Given the description of an element on the screen output the (x, y) to click on. 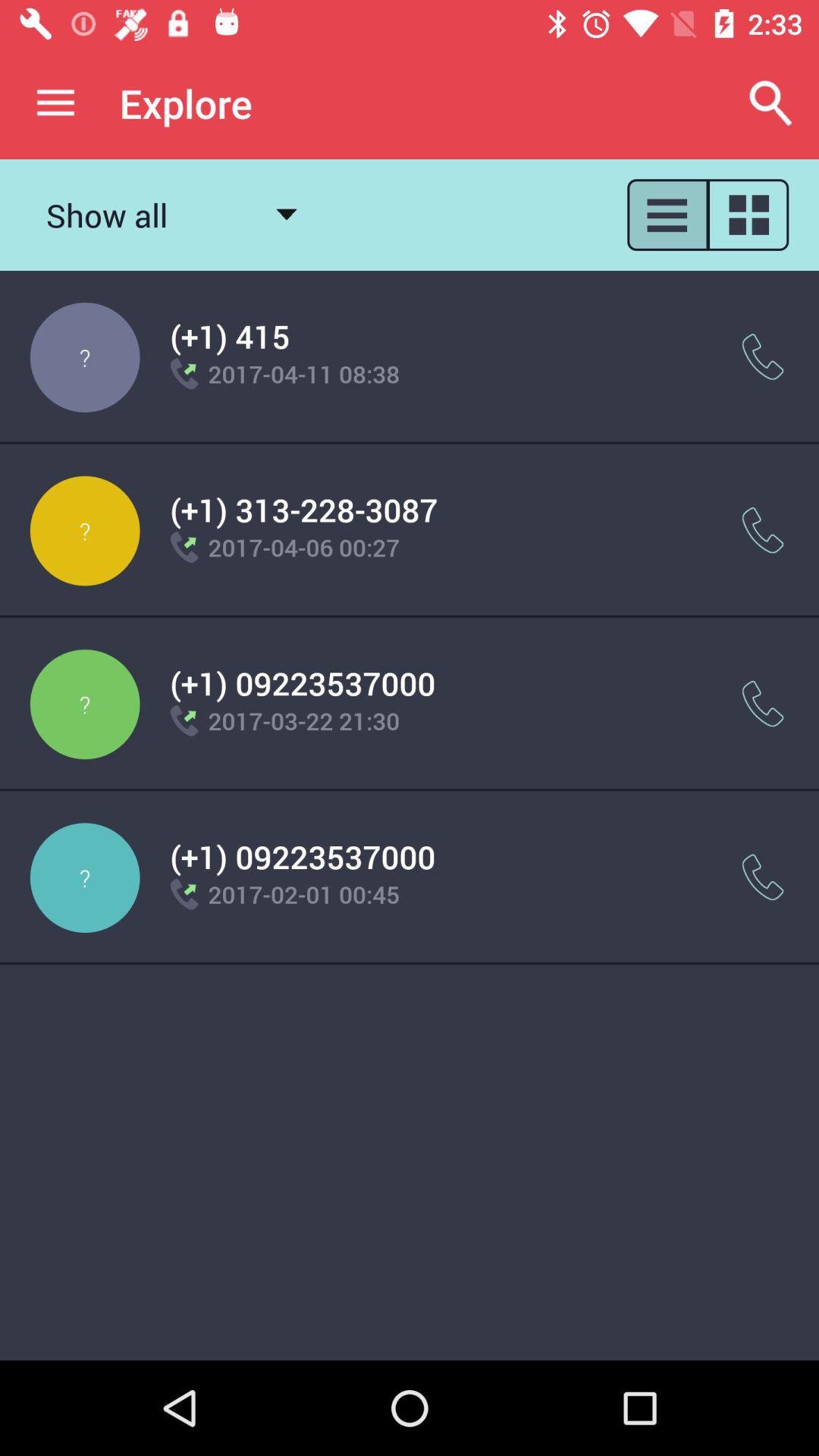
call number (762, 877)
